Given the description of an element on the screen output the (x, y) to click on. 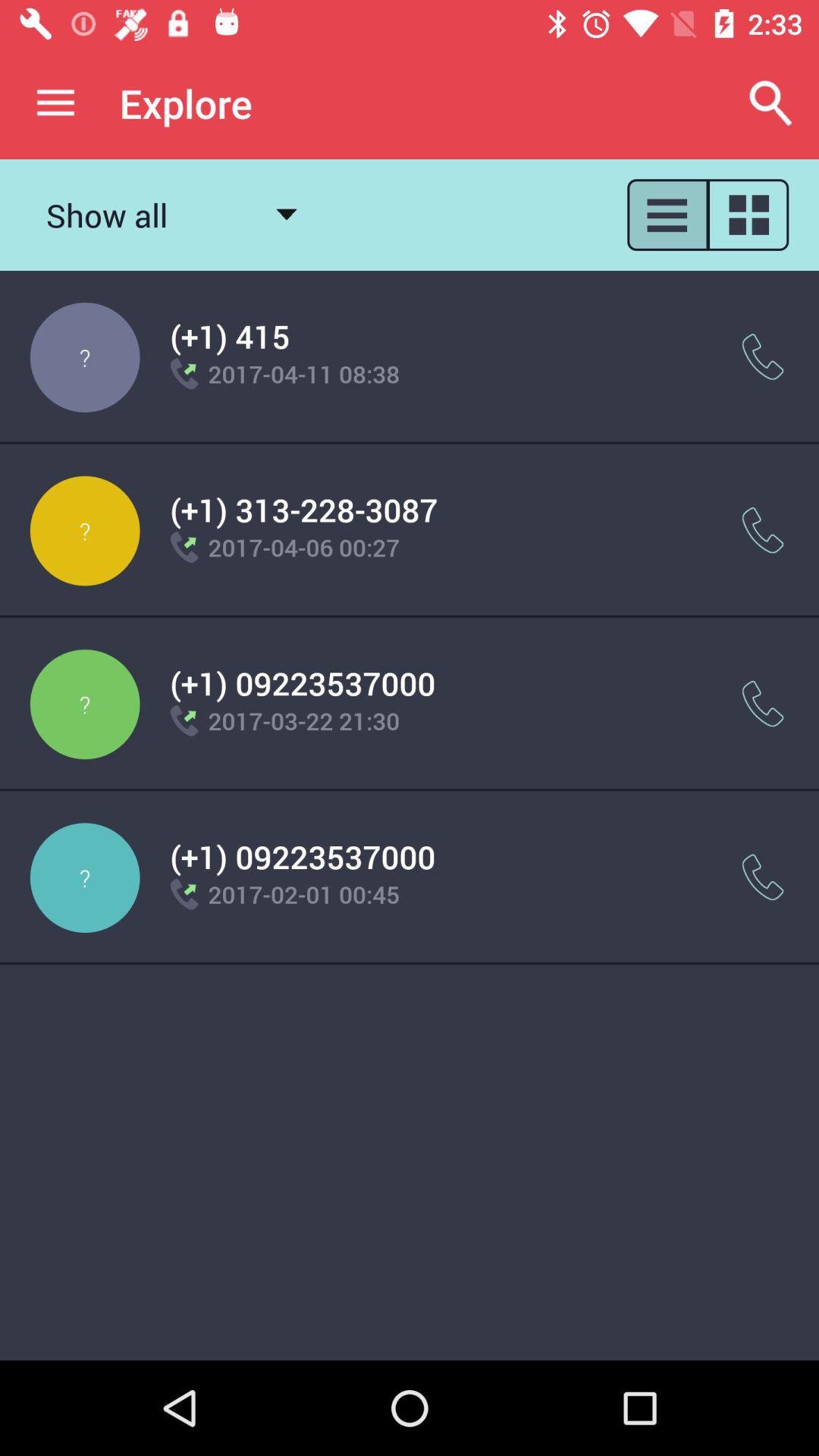
call number (762, 877)
